Given the description of an element on the screen output the (x, y) to click on. 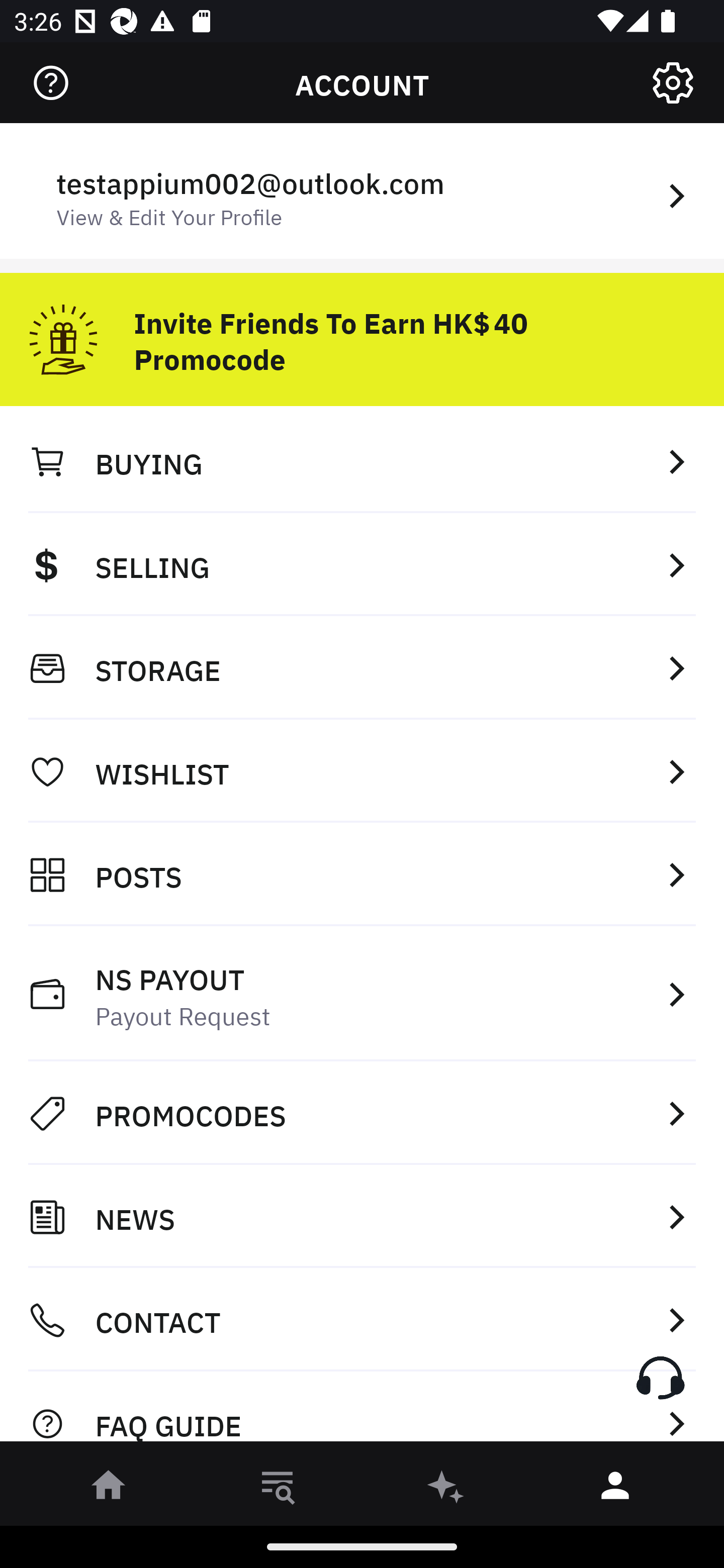
 (50, 83)
 (672, 83)
Invite Friends To Earn HK$ 40 Promocode (362, 332)
 BUYING  (361, 460)
 SELLING  (361, 564)
 STORAGE  (361, 667)
 WISHLIST  (361, 771)
 POSTS  (361, 874)
 0 NS PAYOUT Payout Request  (361, 993)
 PROMOCODES  (361, 1113)
 NEWS  (361, 1216)
 CONTACT  (361, 1320)
 FAQ GUIDE  (361, 1411)
󰋜 (108, 1488)
󱎸 (277, 1488)
󰫢 (446, 1488)
󰀄 (615, 1488)
